Given the description of an element on the screen output the (x, y) to click on. 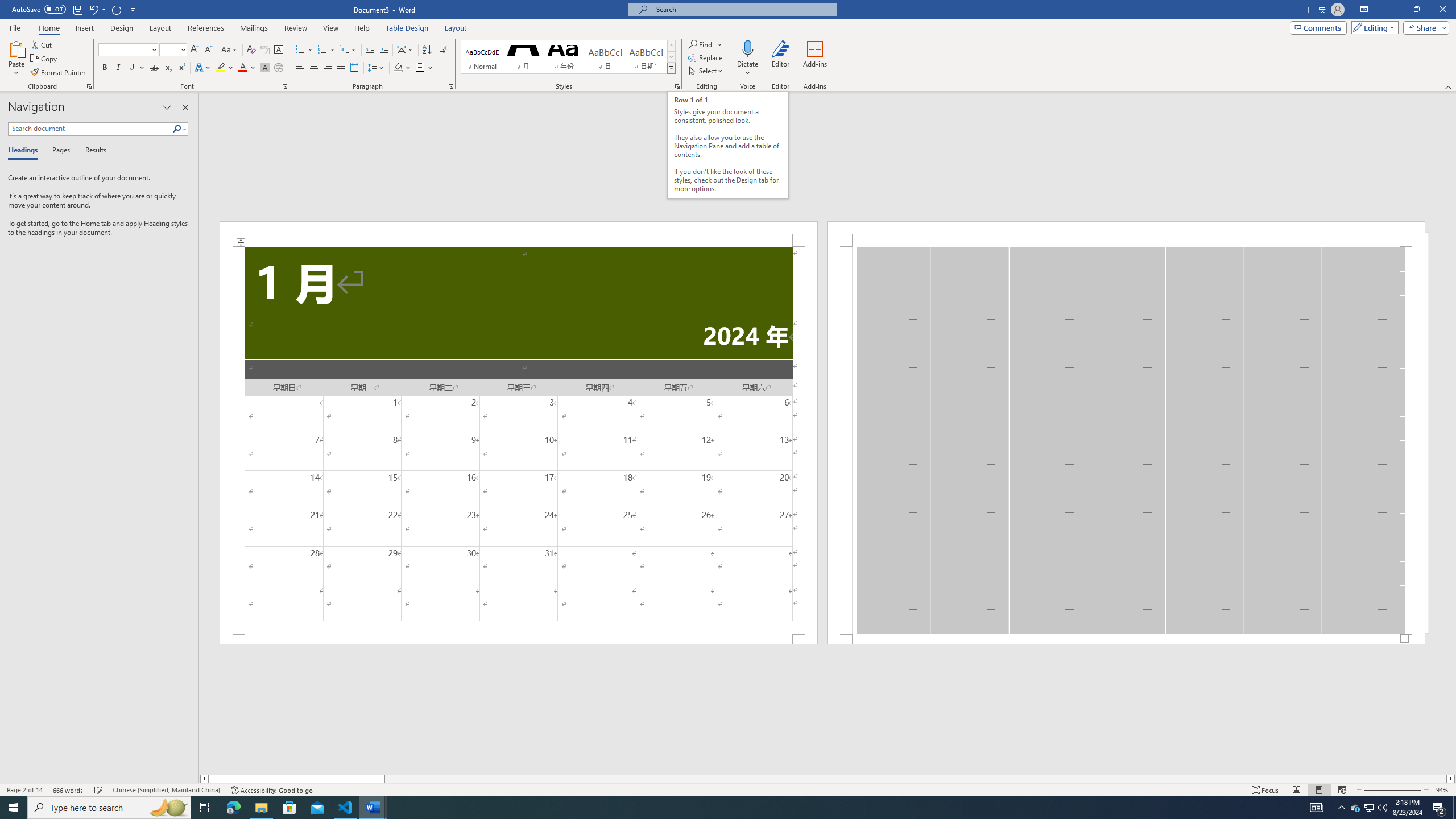
Undo Distribute Para (92, 9)
